Given the description of an element on the screen output the (x, y) to click on. 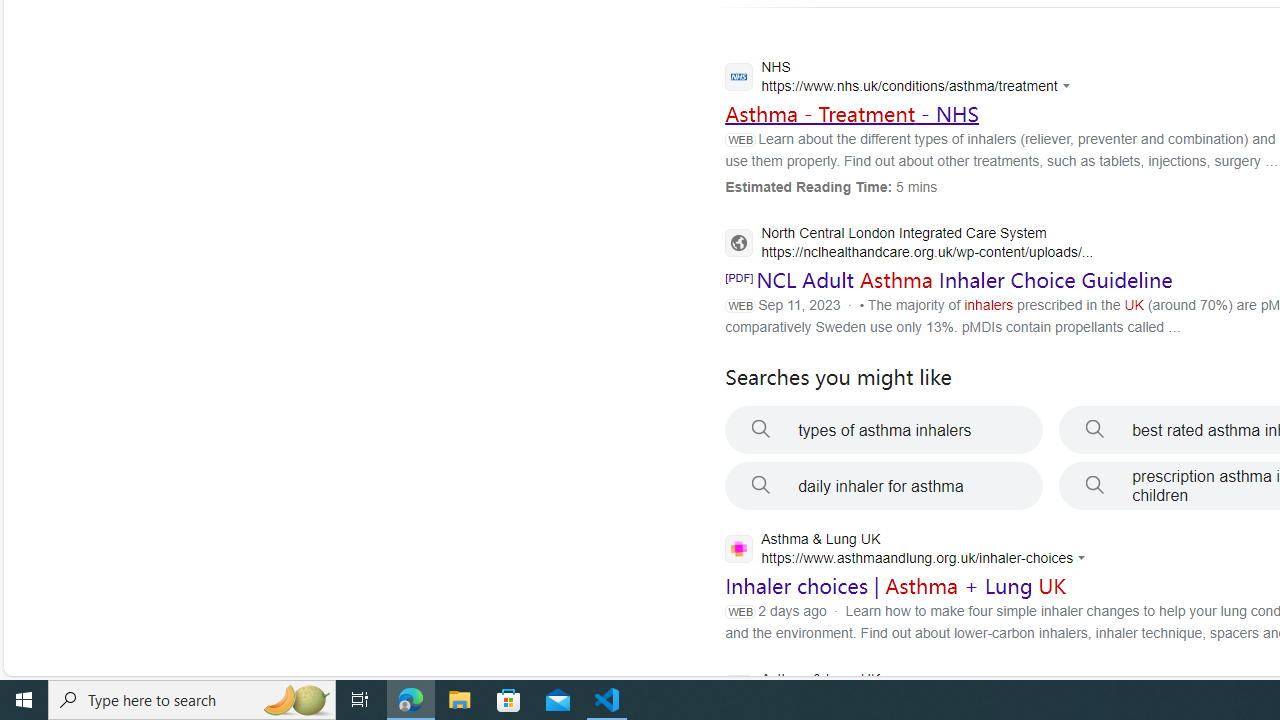
types of asthma inhalers (884, 430)
Inhaler choices | Asthma + Lung UK (895, 586)
Asthma - Treatment - NHS (851, 113)
Asthma & Lung UK (902, 691)
types of asthma inhalers (884, 430)
daily inhaler for asthma (884, 485)
daily inhaler for asthma (884, 485)
NHS (902, 79)
Estimated Reading Time: 5 mins (831, 186)
North Central London Integrated Care System (909, 244)
